Given the description of an element on the screen output the (x, y) to click on. 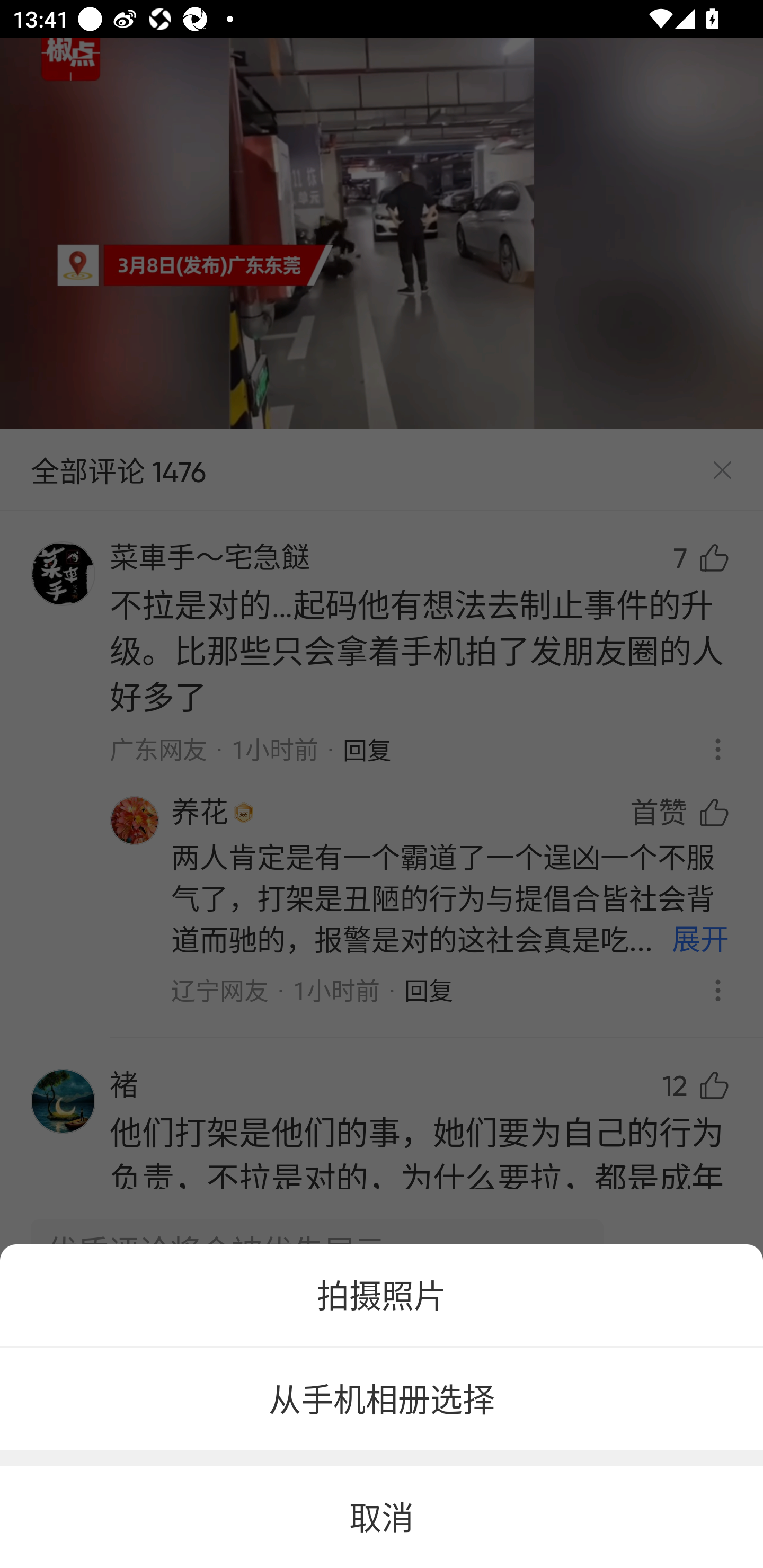
拍摄照片 (381, 1294)
从手机相册选择 (381, 1399)
取消 (381, 1517)
